Given the description of an element on the screen output the (x, y) to click on. 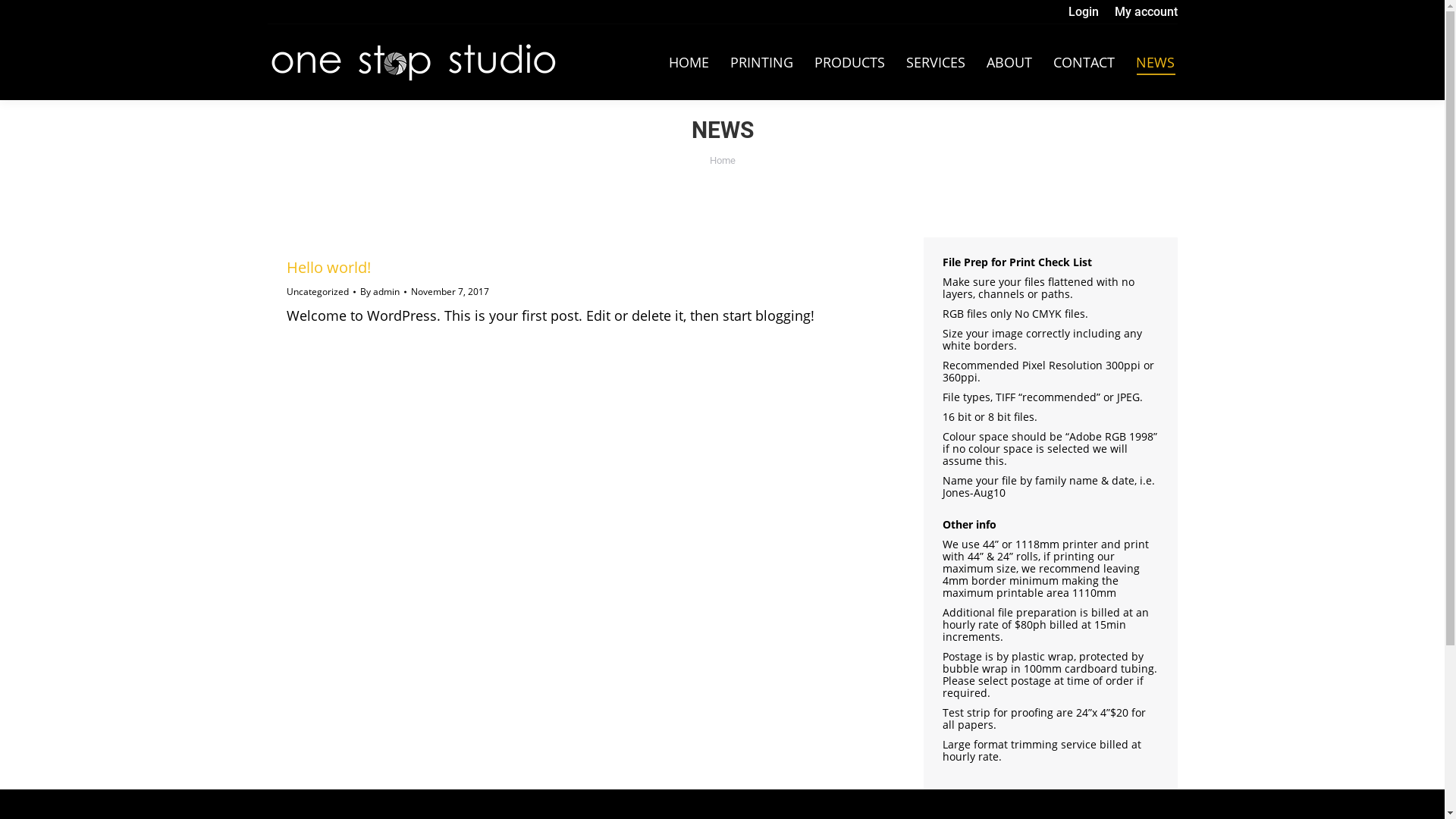
SERVICES Element type: text (934, 62)
Login Element type: text (1082, 11)
My account Element type: text (1145, 11)
CONTACT Element type: text (1083, 62)
November 7, 2017 Element type: text (450, 291)
By admin Element type: text (382, 291)
Home Element type: text (722, 160)
HOME Element type: text (688, 62)
NEWS Element type: text (1154, 62)
PRODUCTS Element type: text (849, 62)
Uncategorized Element type: text (317, 291)
ABOUT Element type: text (1008, 62)
Hello world! Element type: text (328, 267)
PRINTING Element type: text (760, 62)
